Given the description of an element on the screen output the (x, y) to click on. 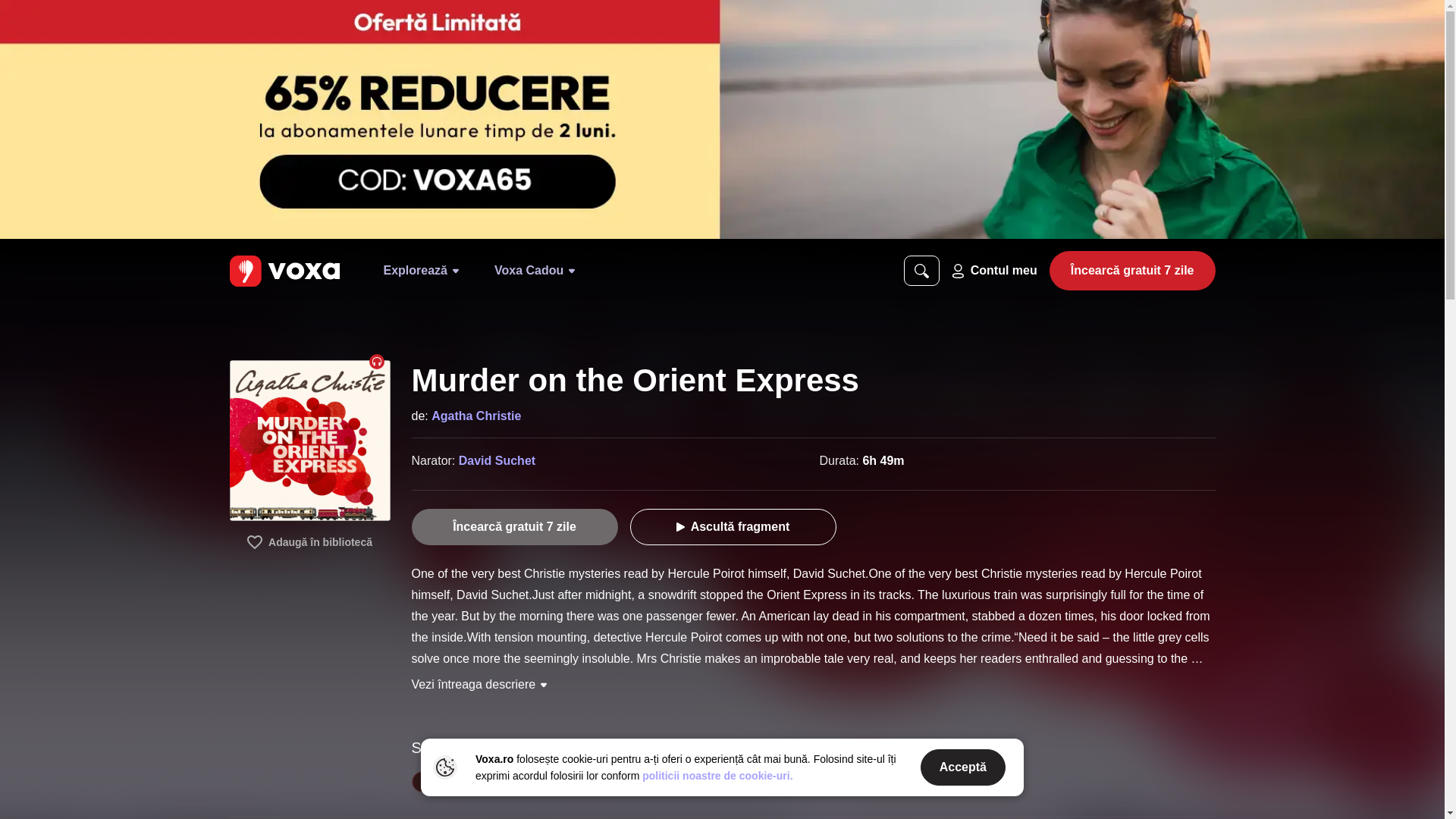
Contul meu (994, 270)
Voxa Cadou (534, 270)
Contemporary and modern literature (506, 781)
David Suchet (496, 460)
Agatha Christie (475, 415)
